Given the description of an element on the screen output the (x, y) to click on. 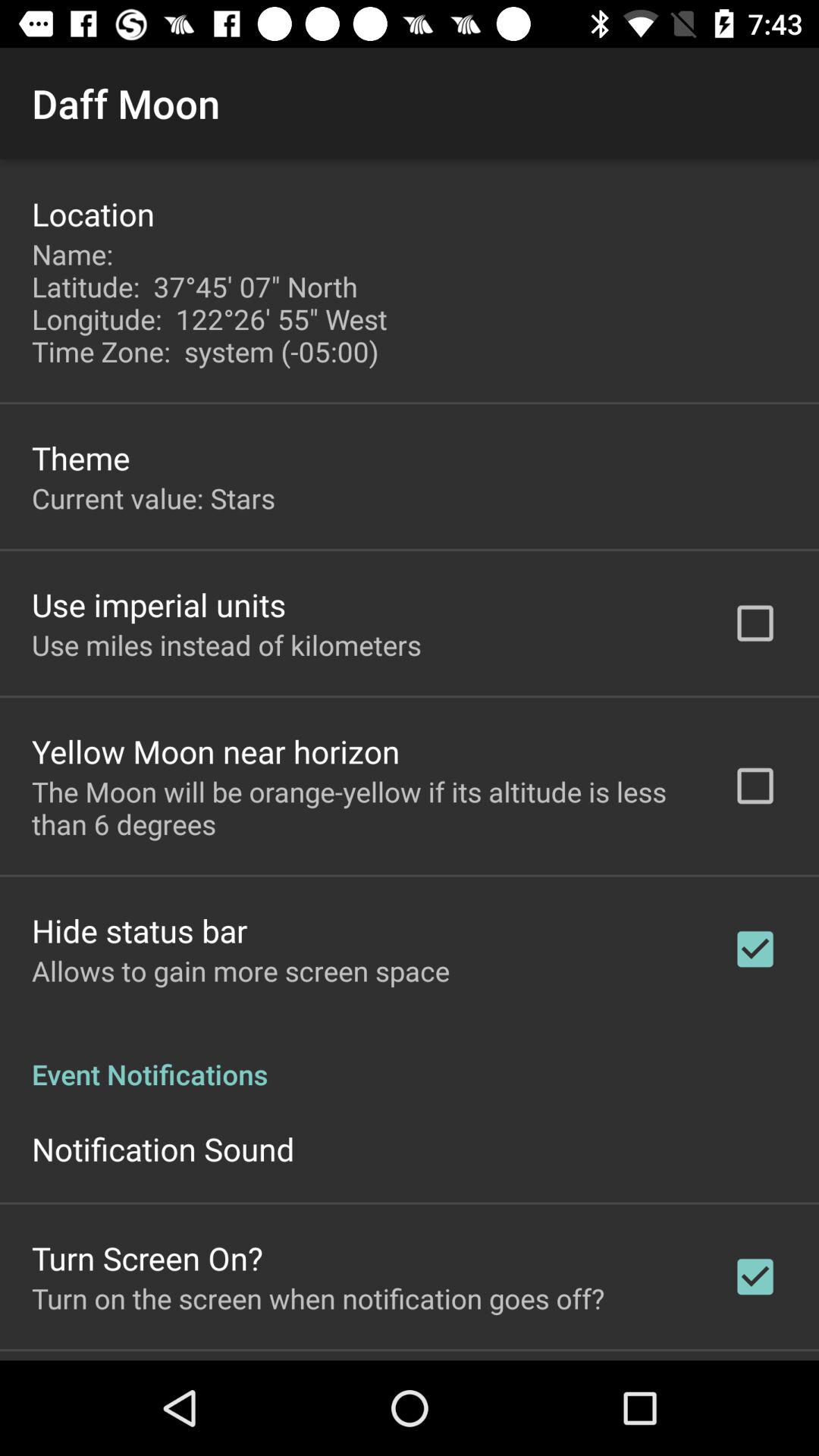
swipe to the theme (80, 457)
